Given the description of an element on the screen output the (x, y) to click on. 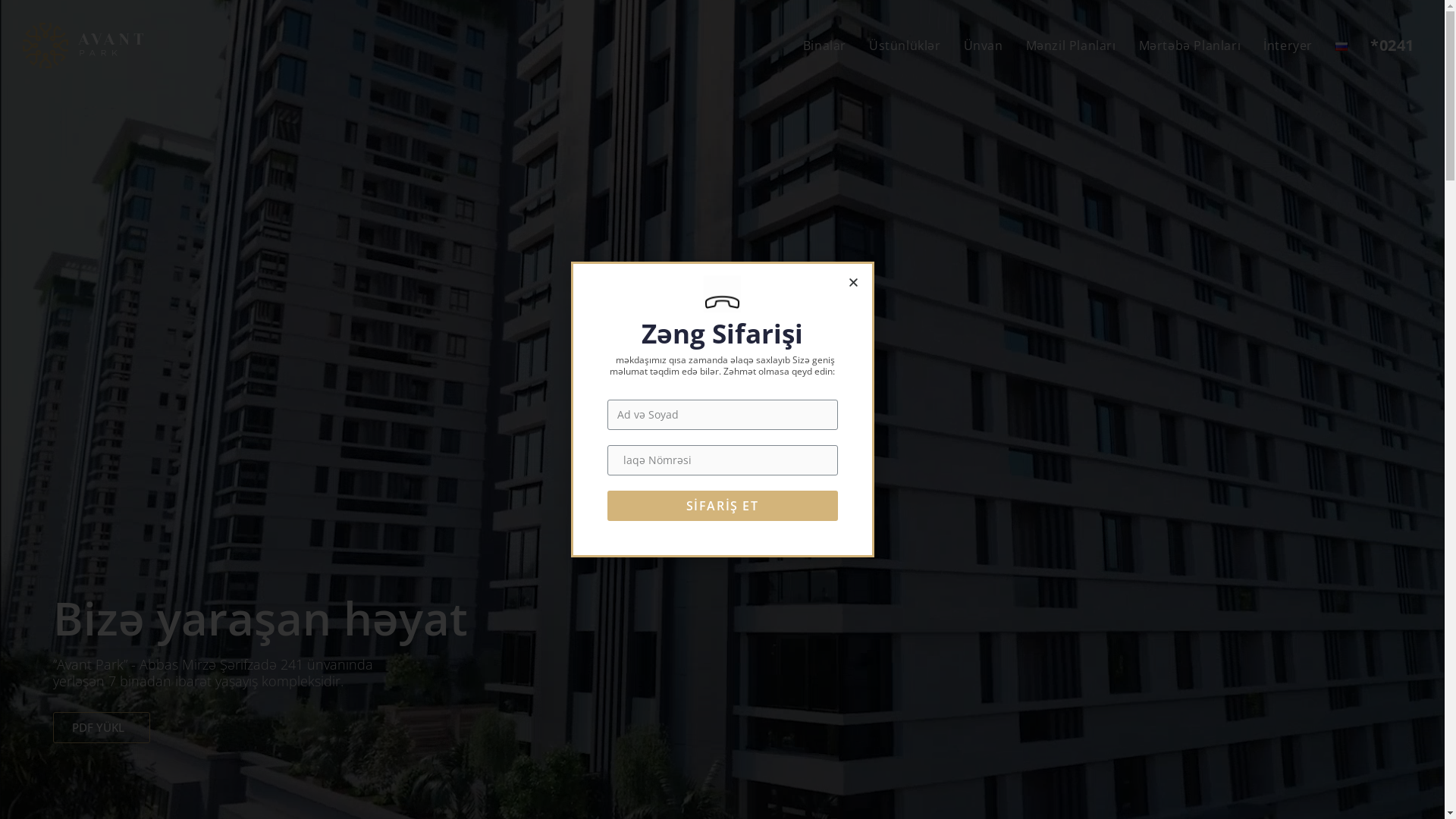
ring-phone Element type: hover (721, 293)
Binalar Element type: text (824, 45)
*0241 Element type: text (1391, 45)
